Given the description of an element on the screen output the (x, y) to click on. 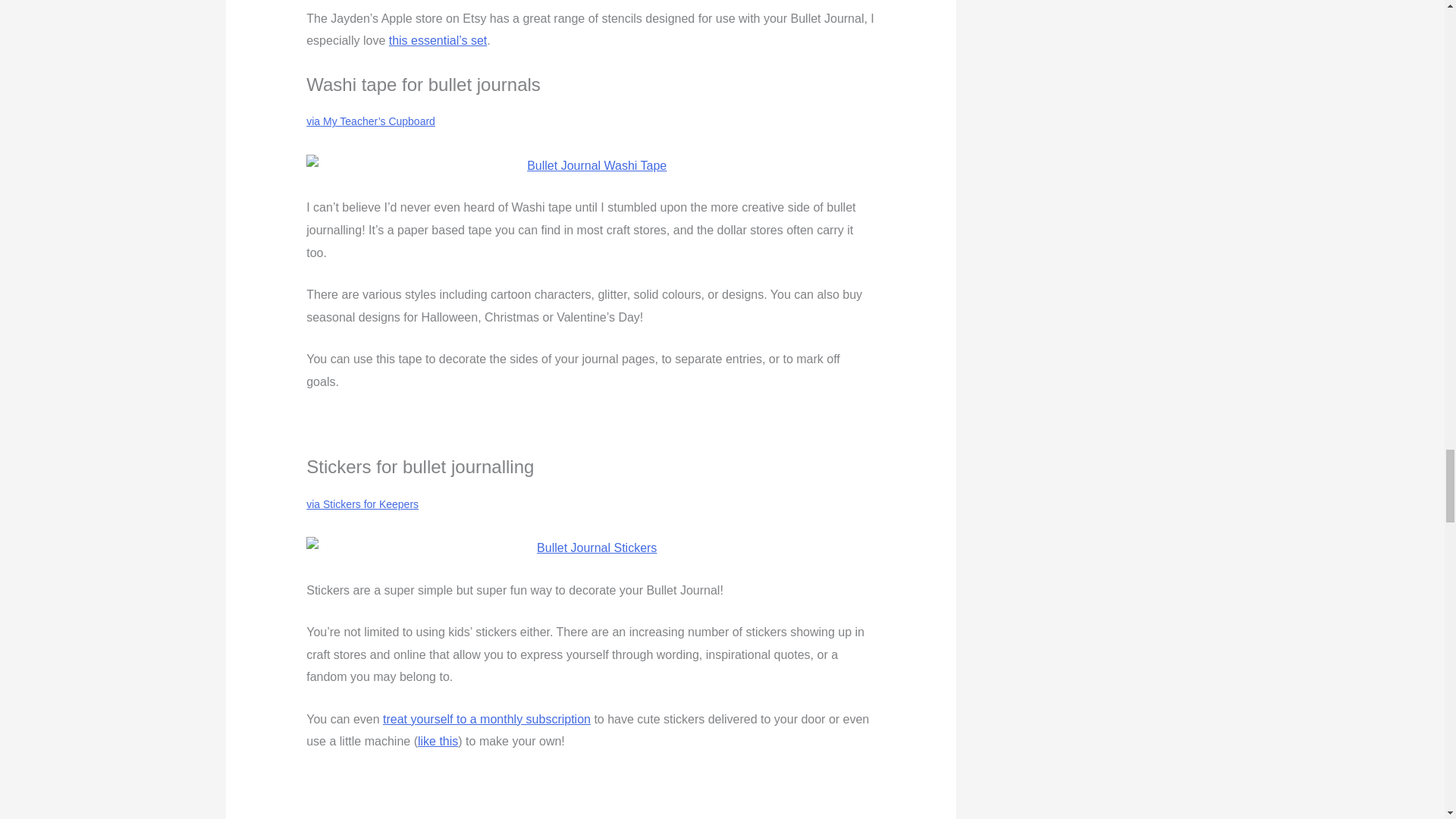
via Stickers for Keepers (362, 503)
